Given the description of an element on the screen output the (x, y) to click on. 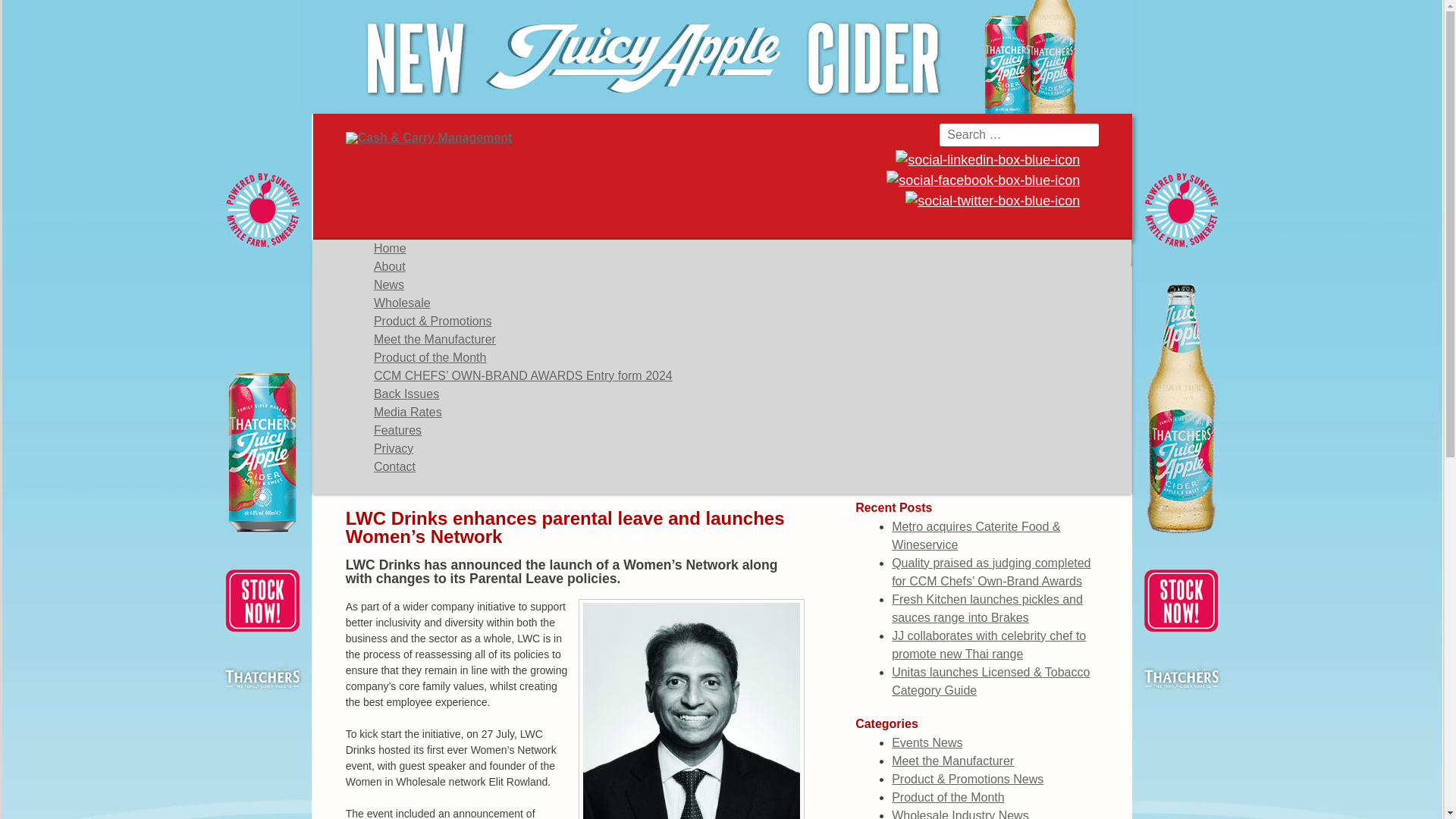
Wholesale Industry News (960, 814)
Media Rates (408, 411)
Features (398, 430)
Back Issues (406, 393)
Product of the Month (947, 797)
Events News (926, 742)
About (390, 266)
Search for: (1019, 134)
Meet the Manufacturer (435, 338)
